Given the description of an element on the screen output the (x, y) to click on. 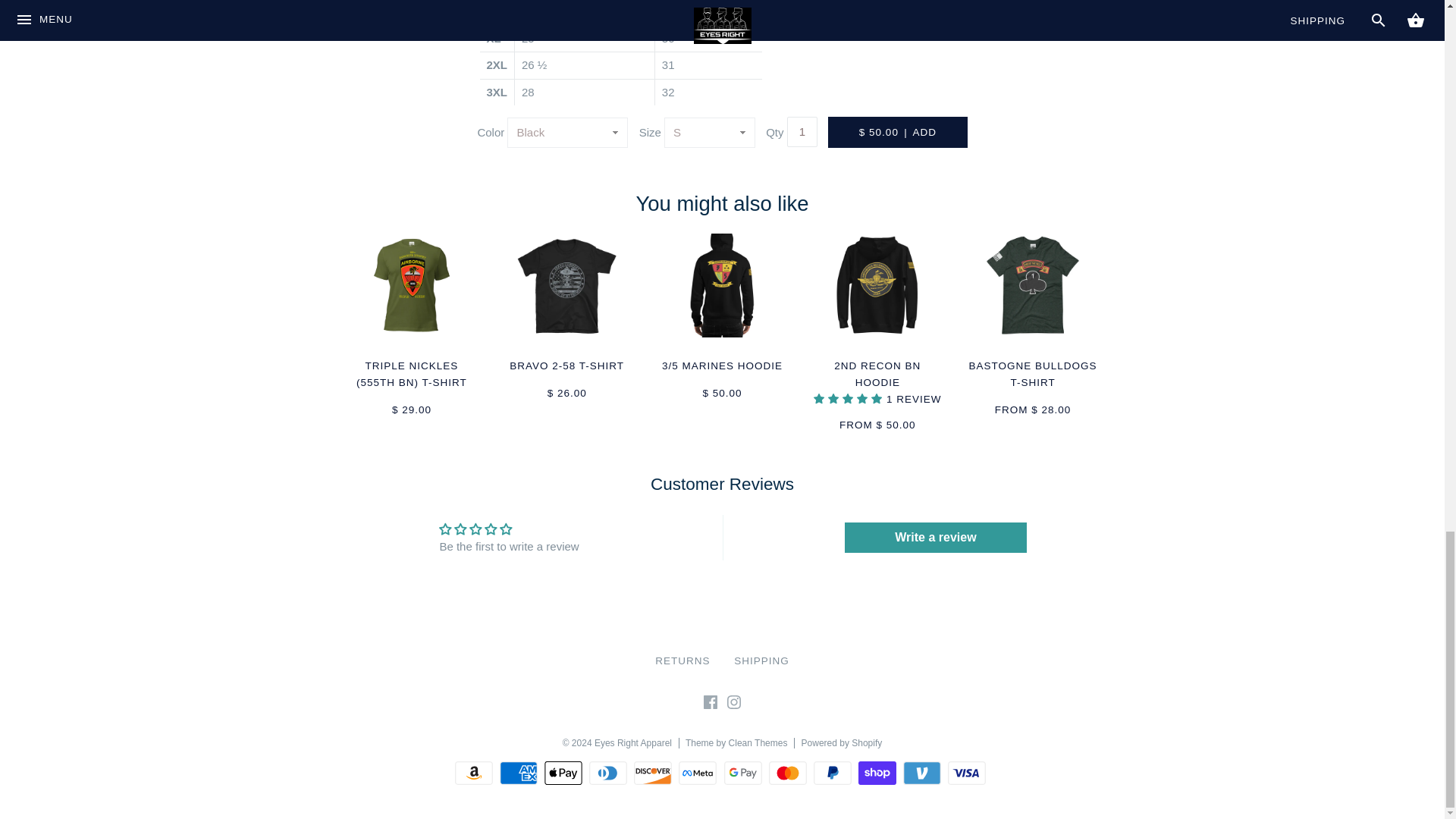
1 (802, 132)
Shipping (761, 660)
Returns (682, 660)
Facebook (710, 705)
Facebook (710, 702)
Instagram (733, 705)
Instagram (733, 702)
